Given the description of an element on the screen output the (x, y) to click on. 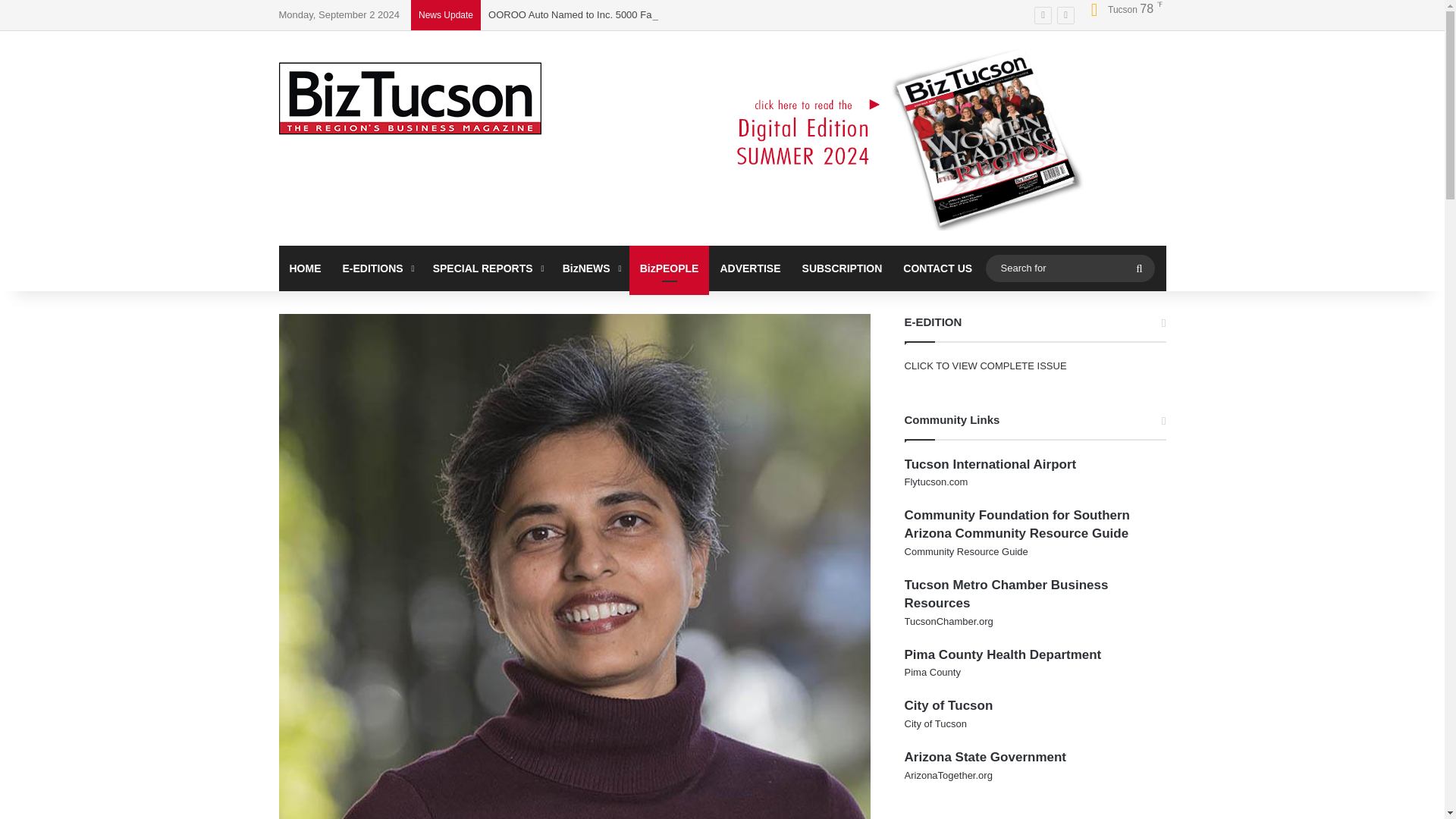
Clear Sky (1120, 9)
HOME (305, 268)
E-EDITIONS (376, 268)
BizTUCSON (410, 99)
OOROO Auto Named to Inc. 5000 Fastest Growing Companies List (635, 14)
Search for (1069, 267)
